Given the description of an element on the screen output the (x, y) to click on. 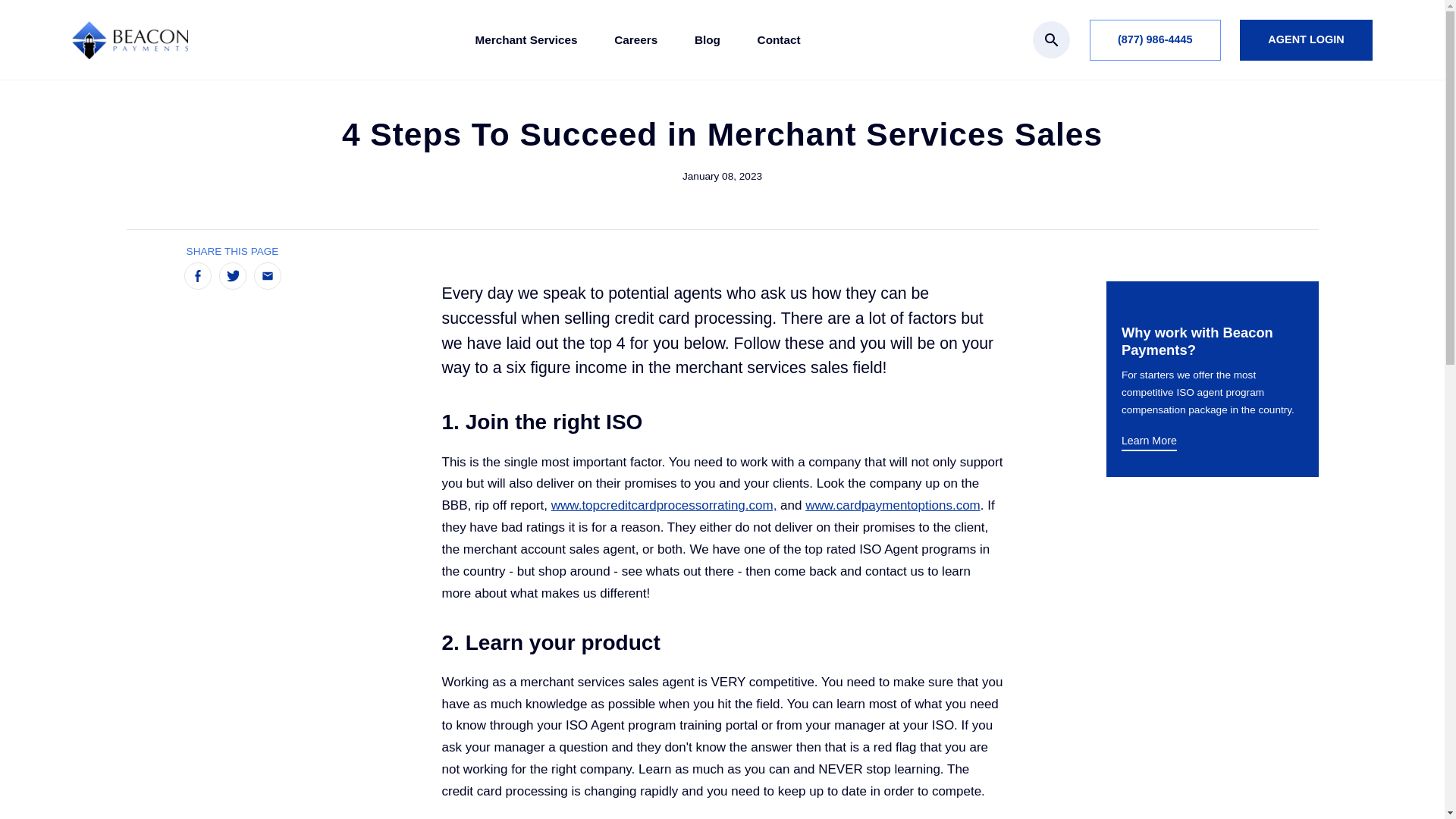
Twitter (232, 275)
Learn More (1148, 441)
www.topcreditcardprocessorrating.com, (664, 504)
Careers (636, 40)
www.cardpaymentoptions.com (892, 504)
Search (1051, 39)
Merchant Services (525, 40)
Facebook (197, 275)
Blog (707, 40)
AGENT LOGIN (1306, 39)
Contact (778, 40)
Email (267, 275)
